Given the description of an element on the screen output the (x, y) to click on. 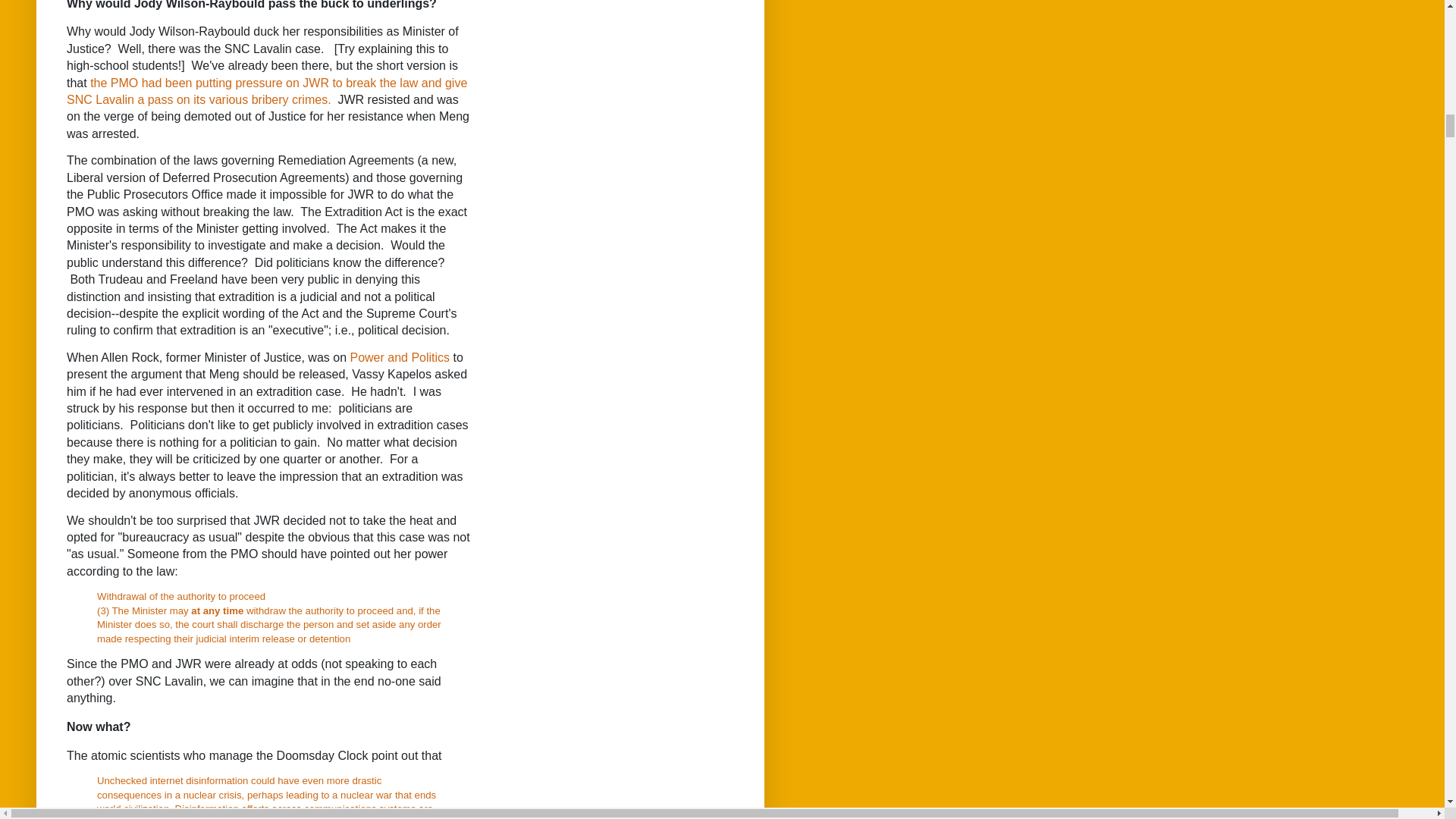
Withdrawal of the authority to proceed (180, 595)
Power and Politics (399, 357)
